Given the description of an element on the screen output the (x, y) to click on. 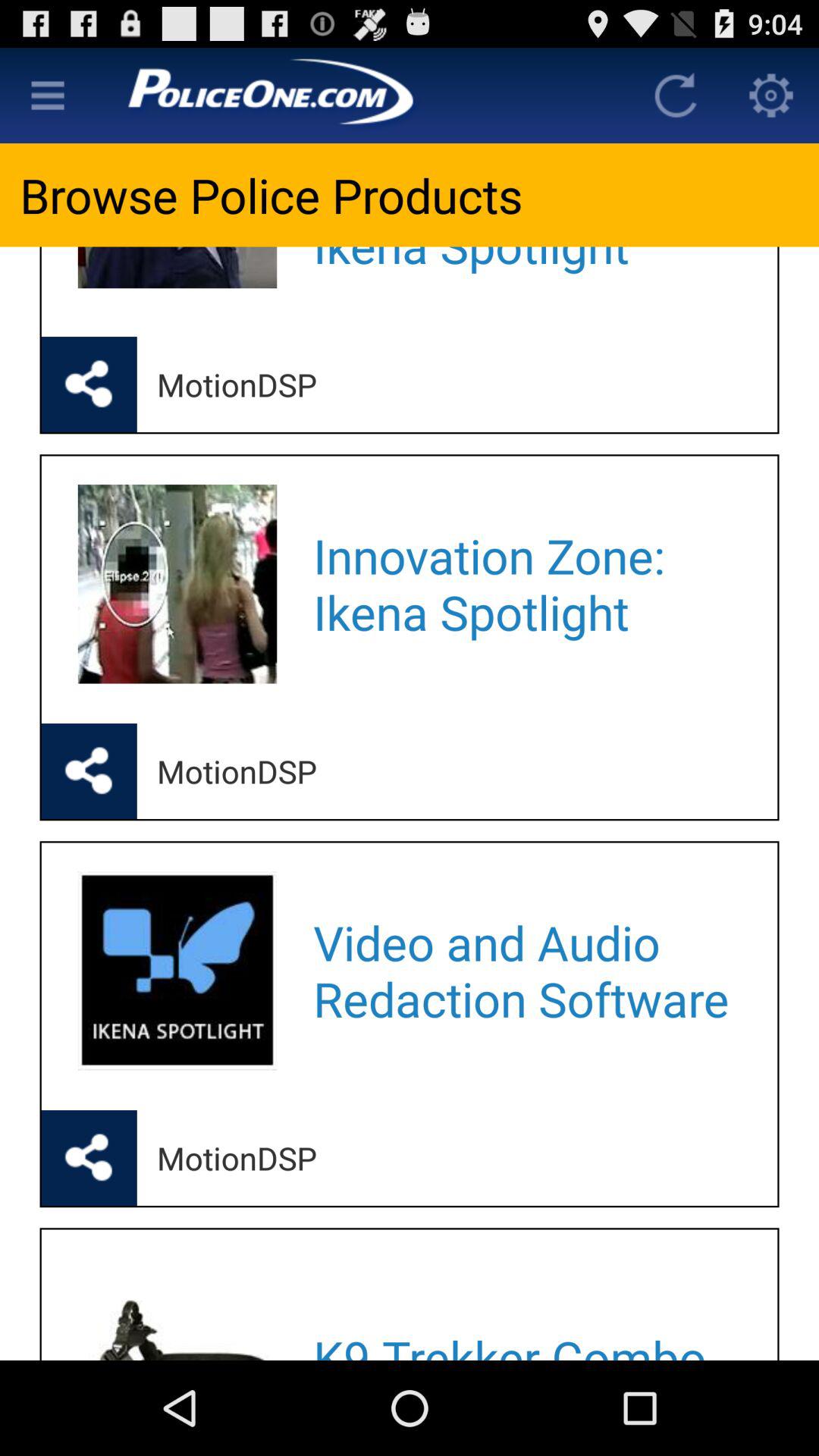
choose icon below the motiondsp icon (525, 970)
